Given the description of an element on the screen output the (x, y) to click on. 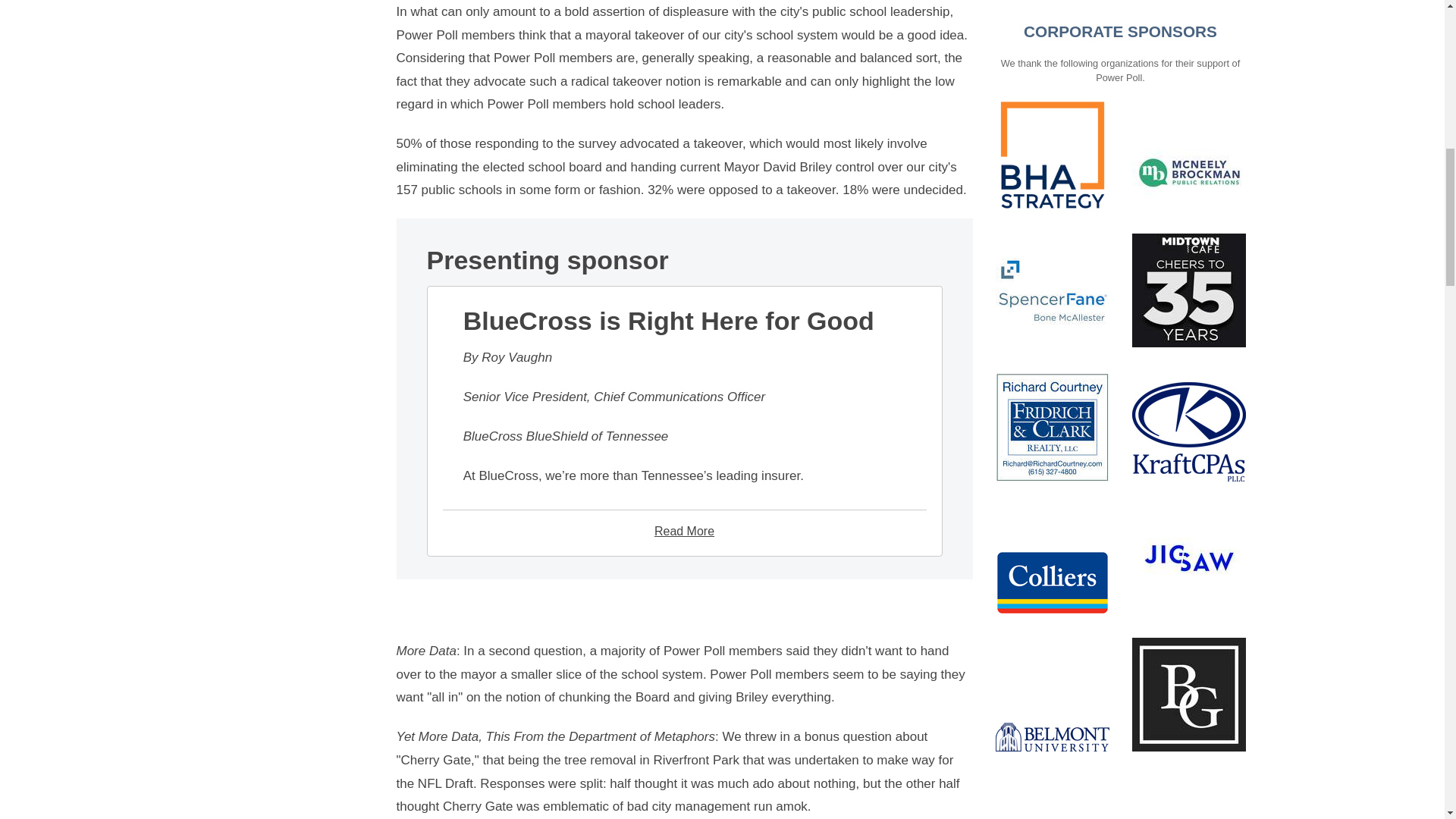
Jigsaw Logo (1187, 327)
KraftCPAs Logo (1187, 200)
Midtown Cafe Logo (1187, 59)
Colliers Logo (1051, 351)
Baker Group Strategies Logo (1187, 463)
Read More (683, 530)
Belmont University Logo (1051, 505)
Spencer Fane Bone McAllester Logo (1051, 59)
